Given the description of an element on the screen output the (x, y) to click on. 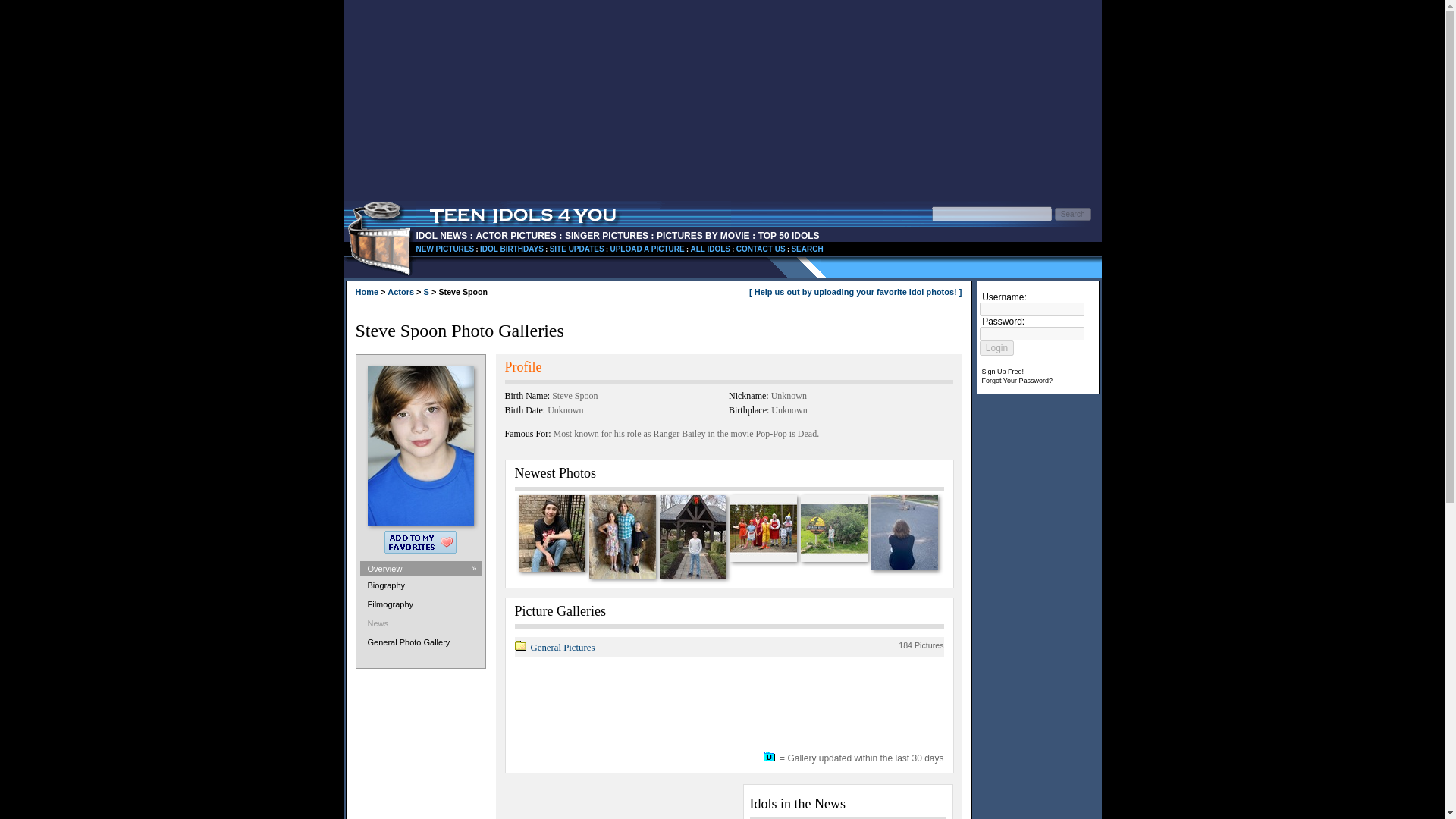
Give us feedback (761, 248)
TOP 50 IDOLS (551, 533)
Home (788, 235)
ALL IDOLS (366, 291)
Idol Birthdays (710, 248)
OLD Actors Format (511, 248)
NEW PICTURES (710, 248)
Steve Spoon Filmography (444, 248)
SEARCH (419, 605)
PICTURES BY MOVIE (806, 248)
Steve Spoon photo gallery (702, 235)
IDOL NEWS (419, 643)
ACTOR PICTURES (440, 235)
NEW Pictures (516, 235)
